Given the description of an element on the screen output the (x, y) to click on. 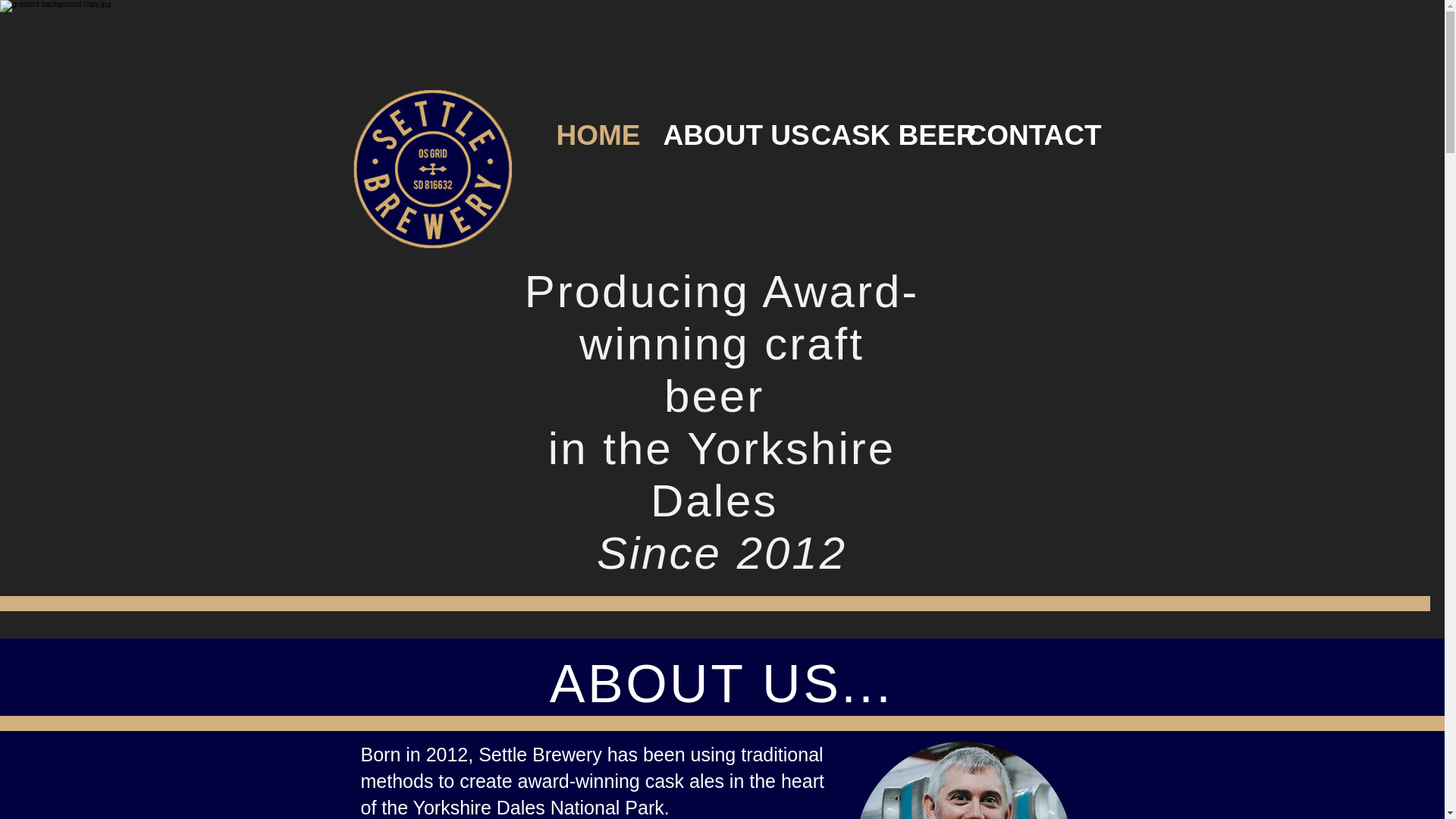
CASK BEER (877, 135)
CONTACT (1024, 135)
HOME (597, 135)
ABOUT US (725, 135)
